Given the description of an element on the screen output the (x, y) to click on. 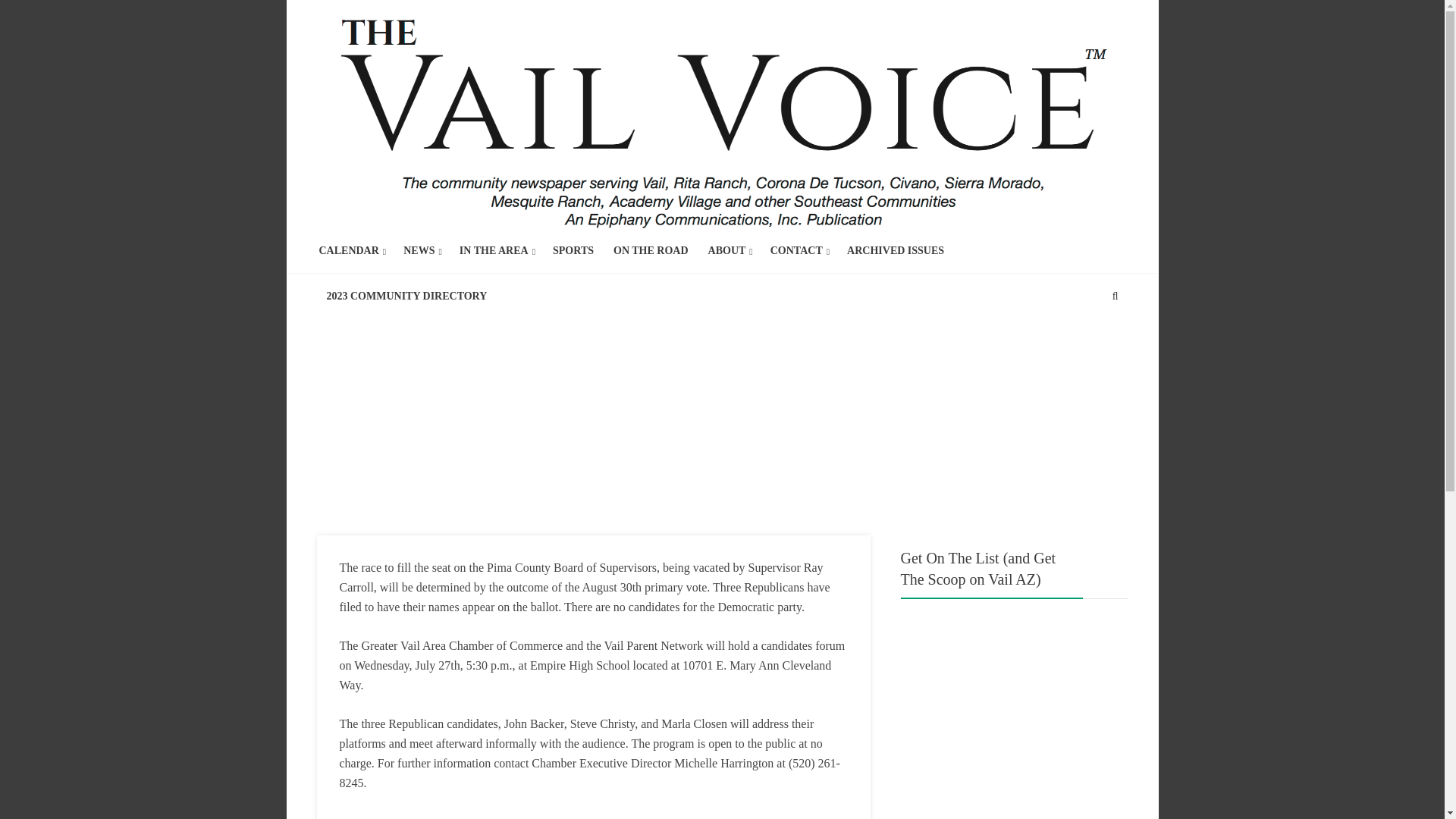
ABOUT (727, 250)
ARCHIVED ISSUES (895, 250)
IN THE AREA (494, 250)
CALENDAR (349, 250)
CONTACT (796, 250)
ON THE ROAD (650, 250)
2023 COMMUNITY DIRECTORY (406, 296)
SPORTS (572, 250)
The Vail Voice (722, 116)
